Given the description of an element on the screen output the (x, y) to click on. 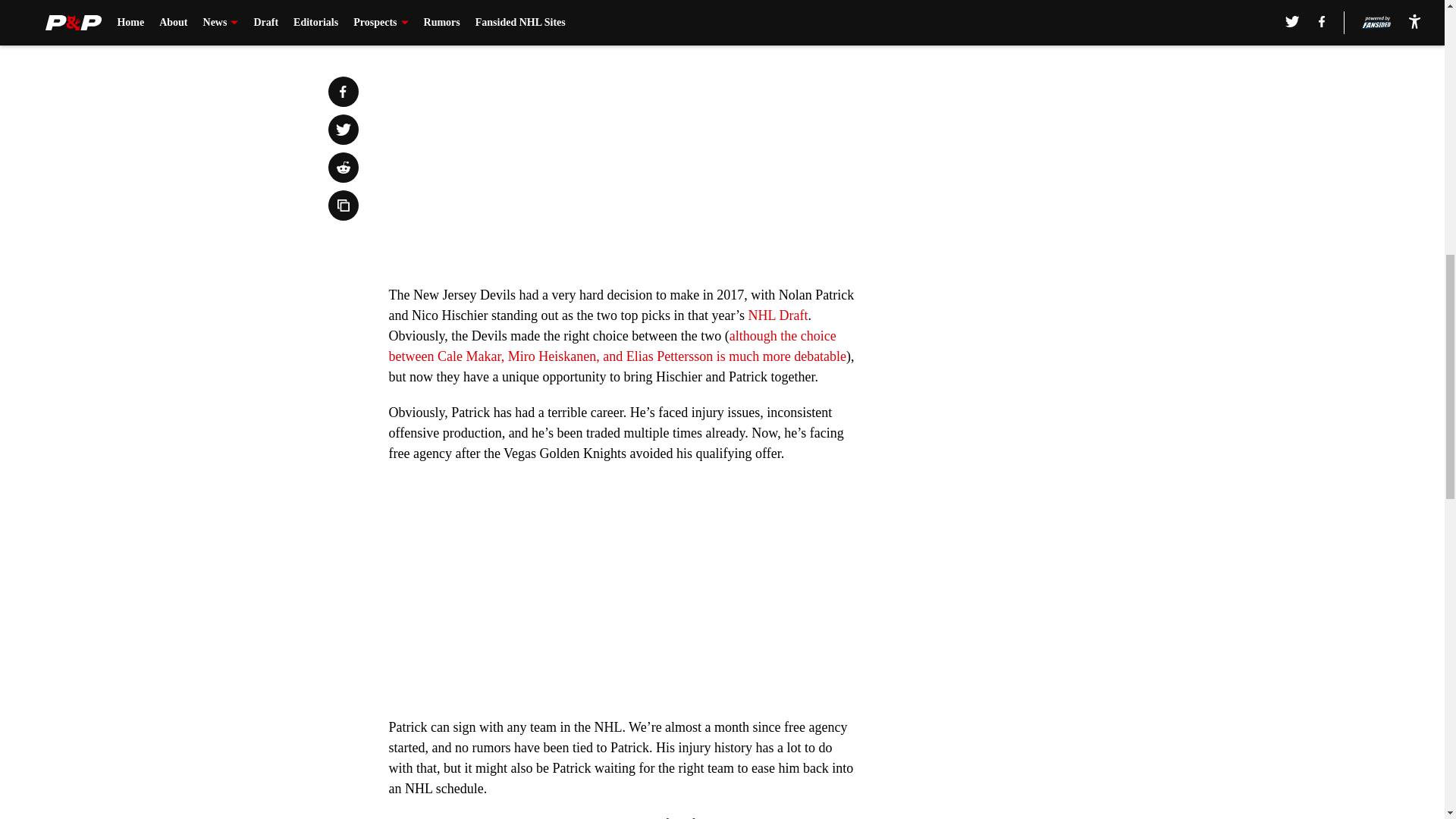
NHL Draft (778, 314)
